Given the description of an element on the screen output the (x, y) to click on. 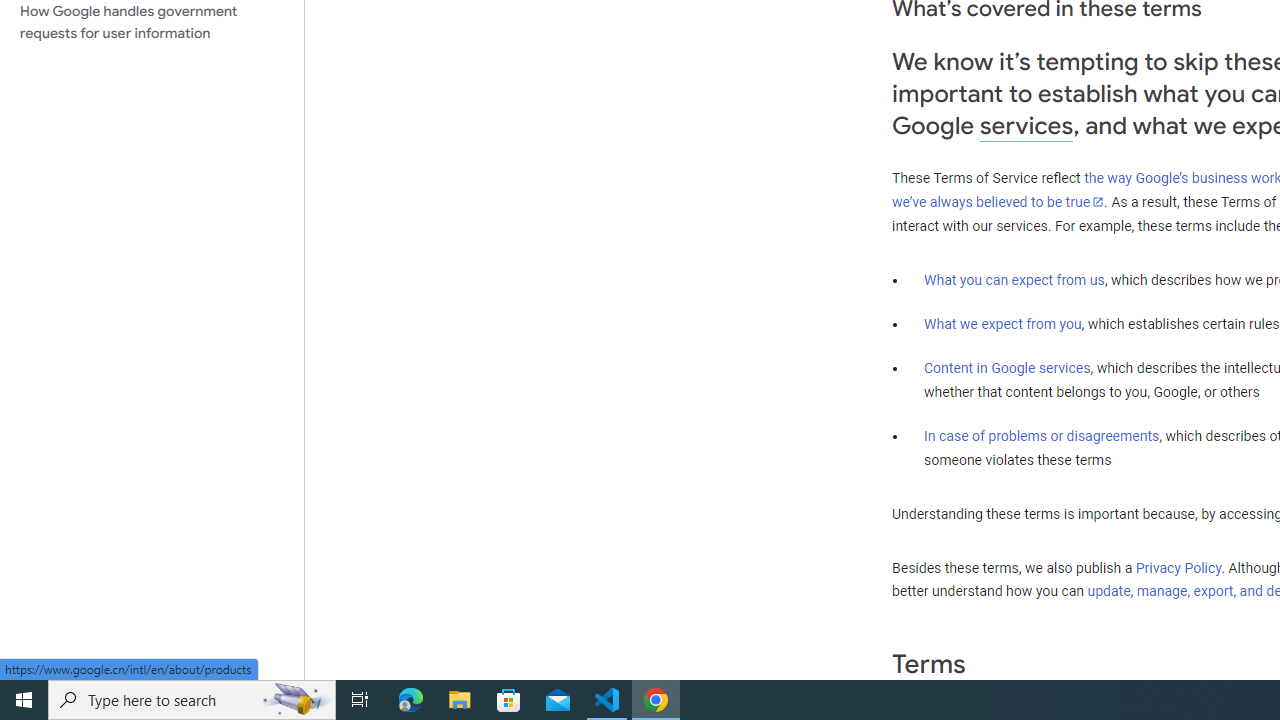
What we expect from you (1002, 323)
In case of problems or disagreements (1041, 435)
services (1026, 125)
Content in Google services (1007, 368)
What you can expect from us (1014, 279)
